Given the description of an element on the screen output the (x, y) to click on. 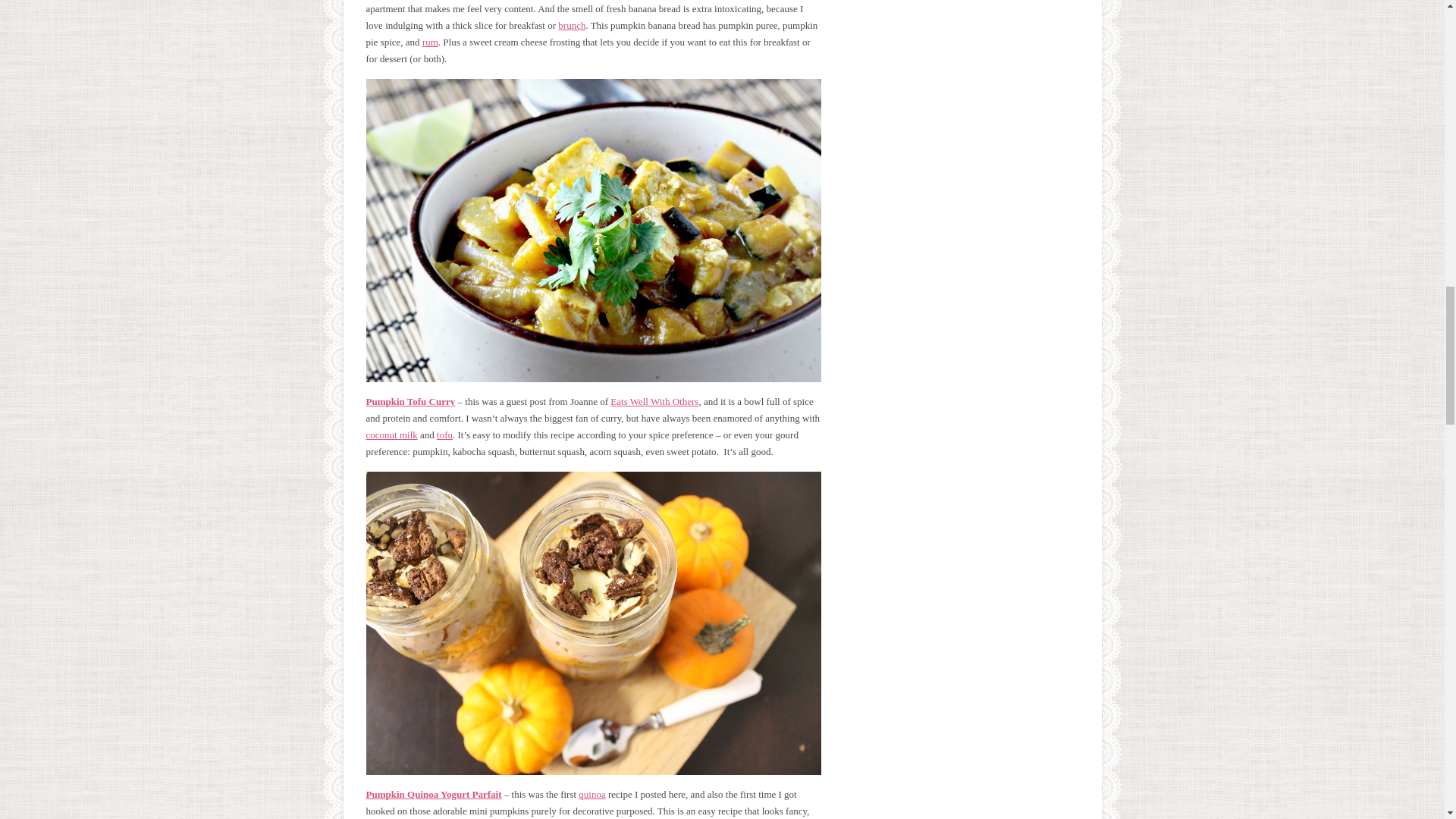
tofu (444, 434)
rum (430, 41)
quinoa (591, 794)
brunch (571, 25)
Eats Well With Others (654, 401)
Pumpkin Quinoa Yogurt Parfait (432, 794)
Pumpkin Tofu Curry (409, 401)
coconut milk (390, 434)
